Given the description of an element on the screen output the (x, y) to click on. 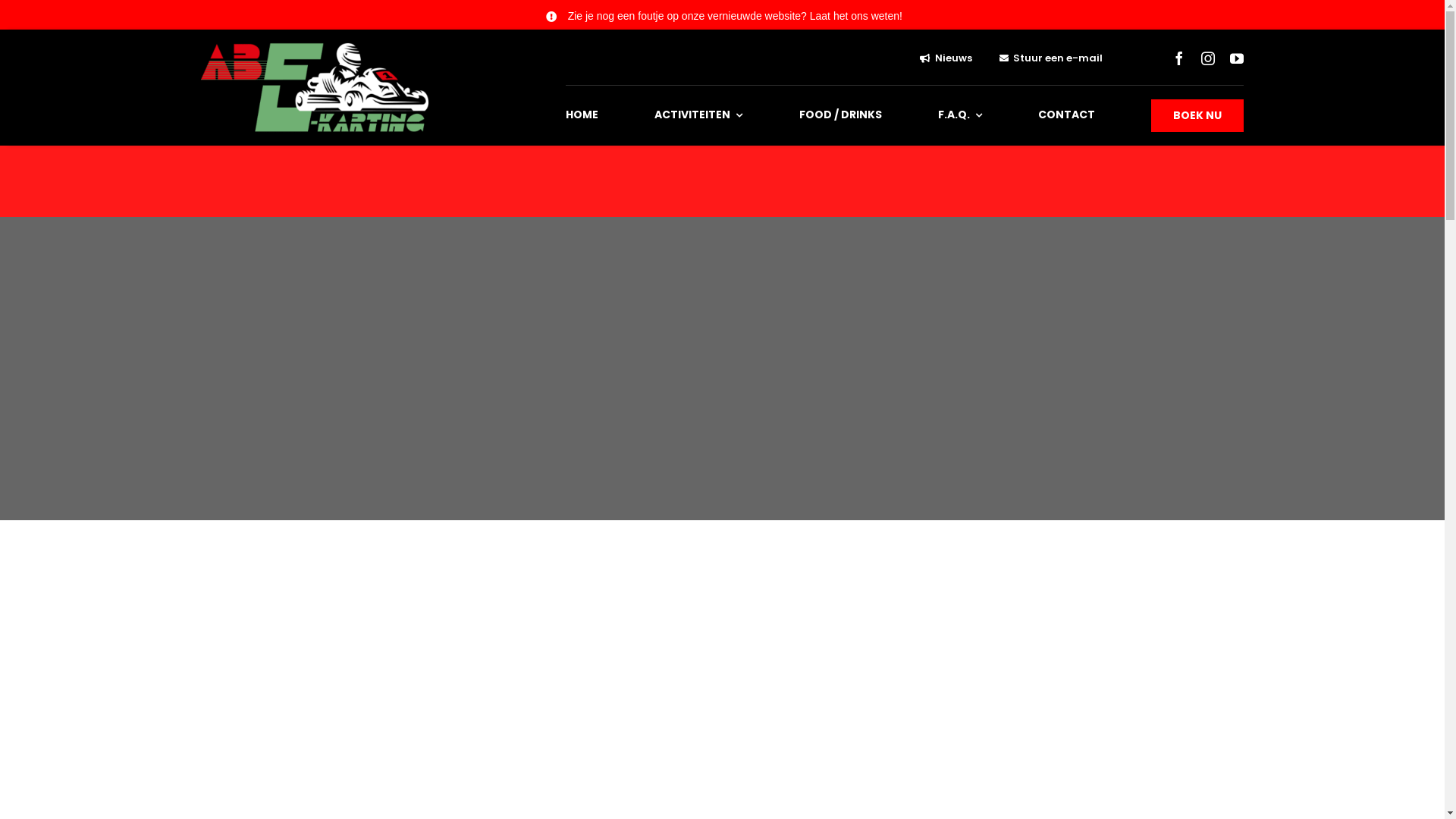
Facebook Element type: hover (1179, 58)
F.A.Q. Element type: text (966, 114)
YouTube Element type: hover (1236, 58)
Nieuws Element type: text (954, 57)
CONTACT Element type: text (1072, 114)
BOEK NU Element type: text (1197, 115)
ACTIVITEITEN Element type: text (704, 114)
Instagram Element type: hover (1207, 58)
HOME Element type: text (587, 114)
FOOD / DRINKS Element type: text (846, 114)
Stuur een e-mail Element type: text (1059, 57)
